Given the description of an element on the screen output the (x, y) to click on. 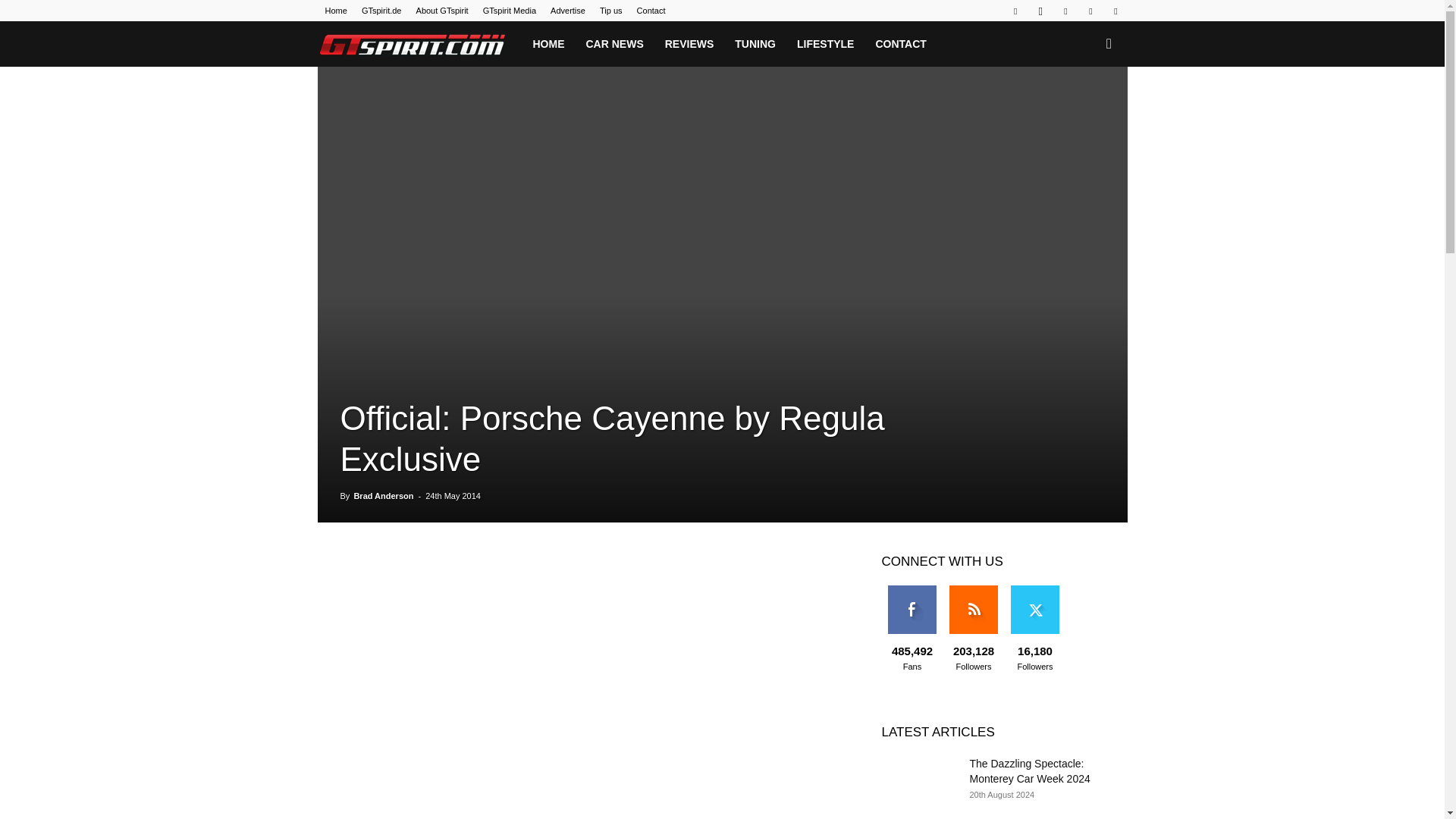
HOME (548, 43)
GTspirit (419, 43)
GTspirit Media (509, 10)
Contact (651, 10)
About GTspirit (442, 10)
TUNING (754, 43)
Twitter (1090, 10)
Youtube (1114, 10)
Tip us (611, 10)
Home (335, 10)
